Given the description of an element on the screen output the (x, y) to click on. 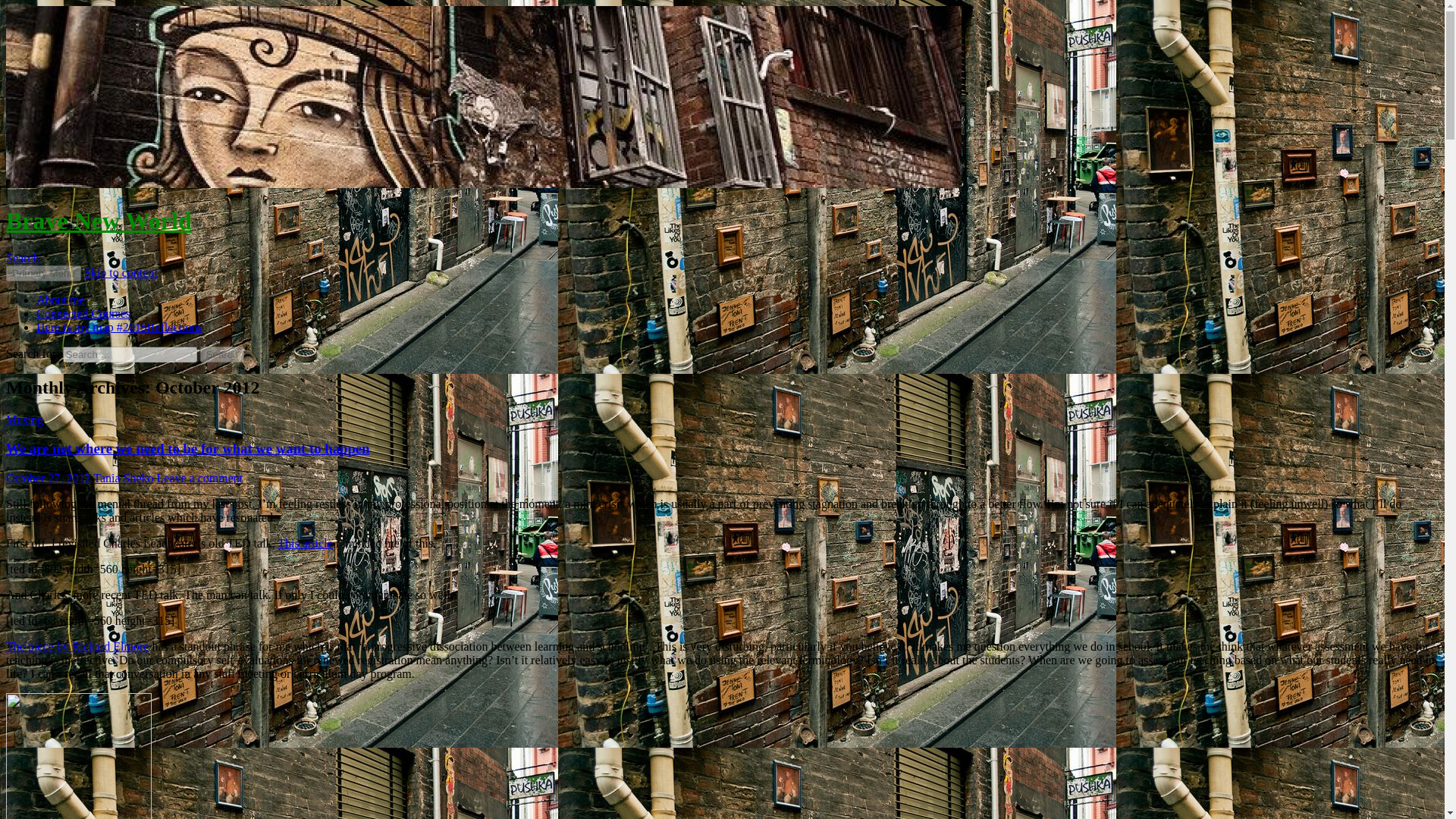
Search (222, 354)
Search (22, 257)
Search (222, 354)
We are not where we need to be for what we want to happen (187, 448)
October 27, 2012 (47, 477)
This article (304, 543)
The piece by Richard Elmore (76, 645)
Brave New World (98, 220)
Musing (24, 419)
Leave a comment (200, 477)
